Given the description of an element on the screen output the (x, y) to click on. 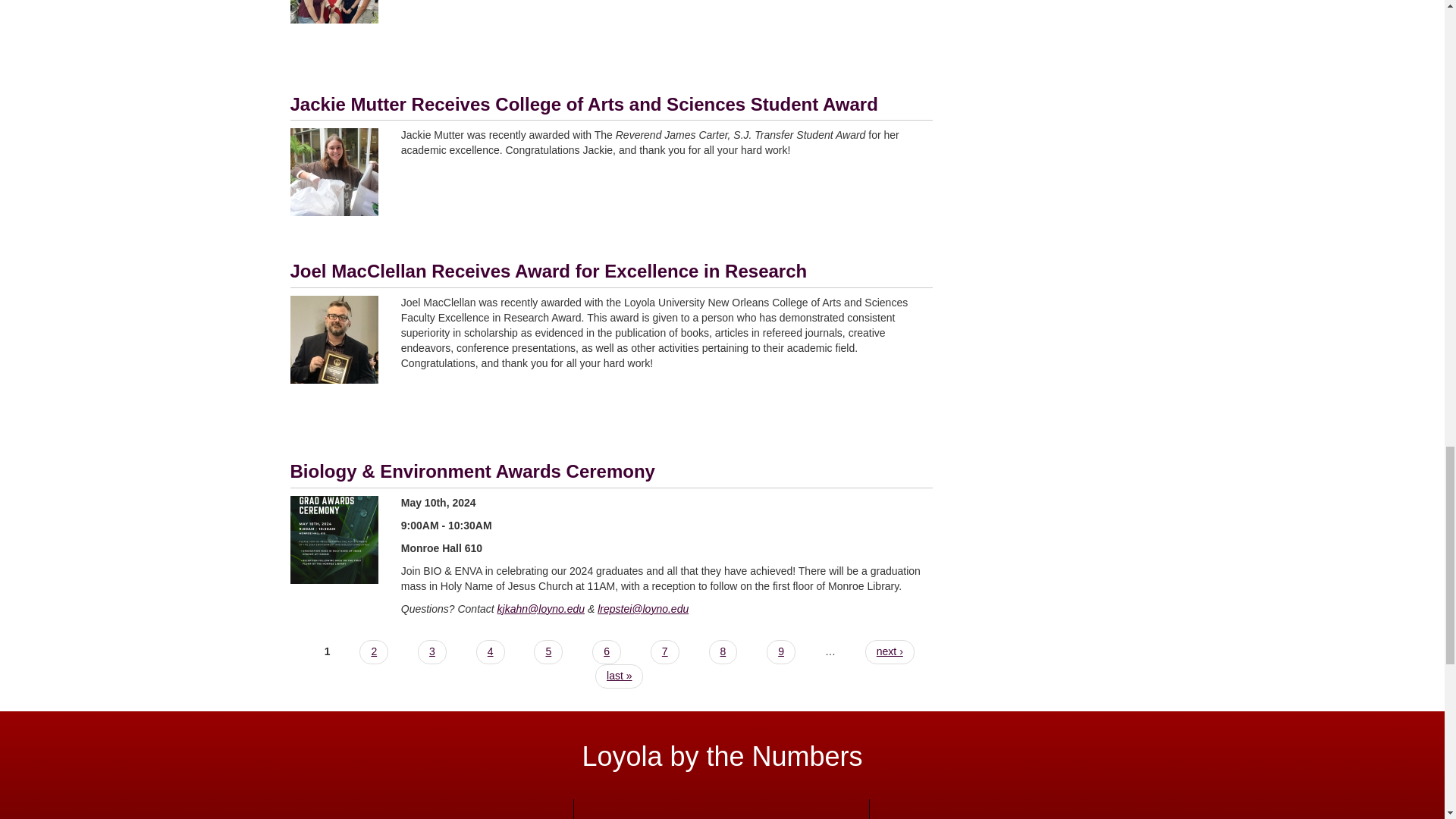
Go to page 3 (431, 651)
Go to page 7 (664, 651)
Go to page 8 (723, 651)
Go to page 5 (548, 651)
Go to page 4 (490, 651)
Go to page 2 (373, 651)
Go to page 6 (606, 651)
